Given the description of an element on the screen output the (x, y) to click on. 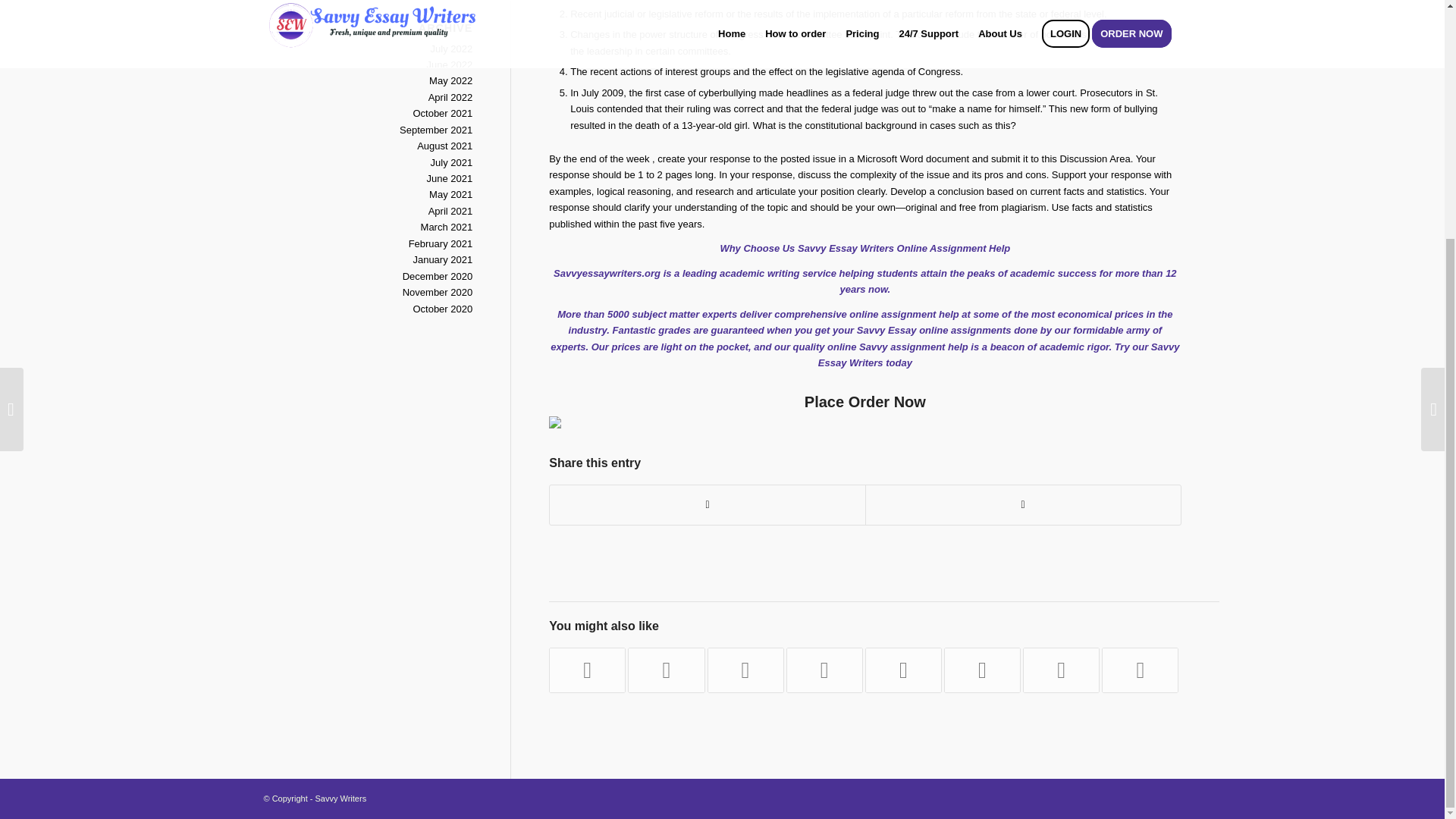
Try our (1131, 346)
July 2022 (451, 48)
Place Order Now (865, 401)
more than 12 (1145, 273)
Technology Savvy Essay Writers (1139, 669)
current event Savvy Essay Writers (981, 669)
June 2022 (448, 64)
Assignment Help (970, 247)
Assignment Help Media And Sexism Savvy Essay Writers (1061, 669)
